Given the description of an element on the screen output the (x, y) to click on. 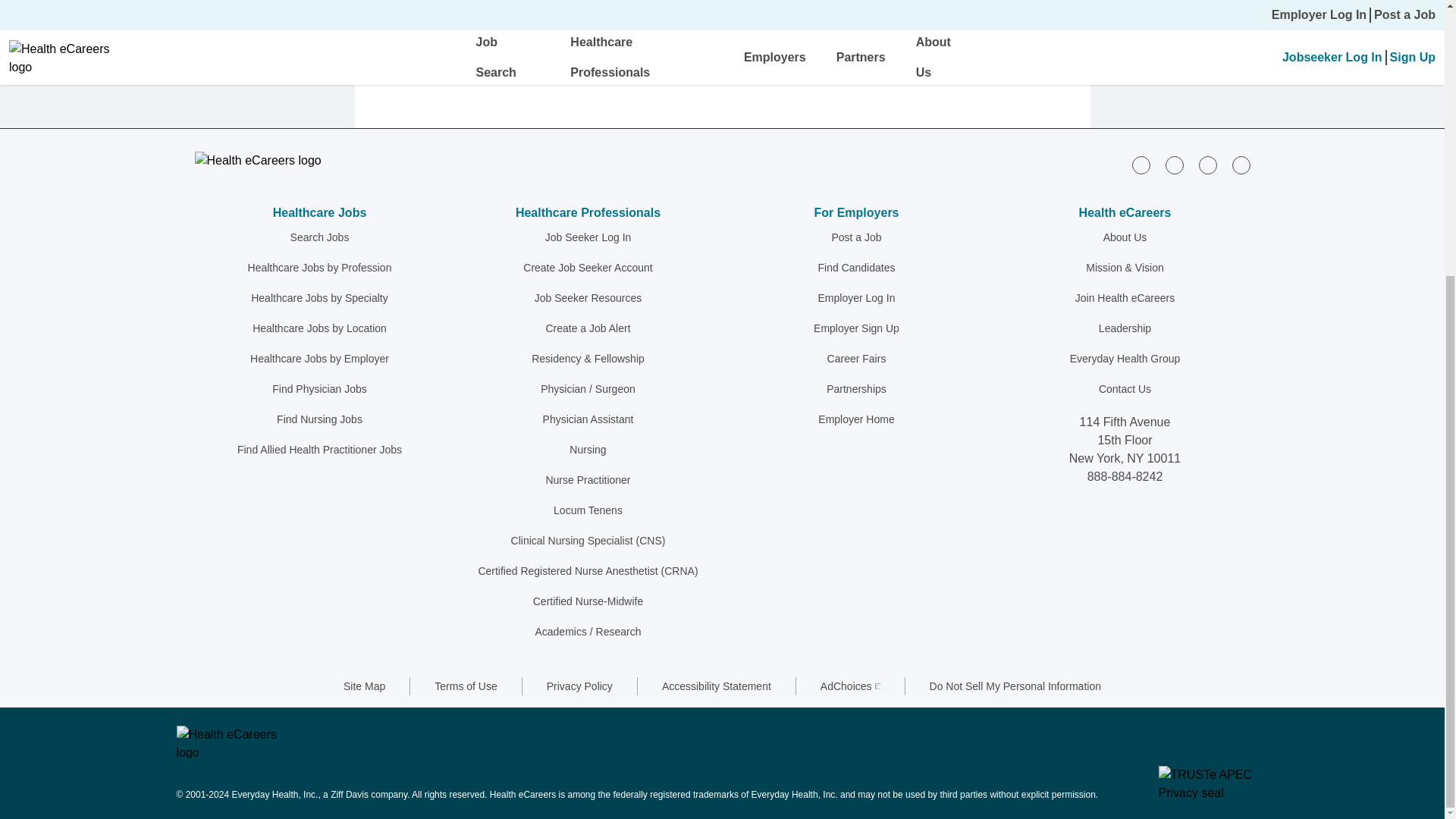
youtube (1240, 165)
linkedin (1140, 165)
twitter (1206, 165)
Back to top (598, 35)
facebook (1173, 165)
